Given the description of an element on the screen output the (x, y) to click on. 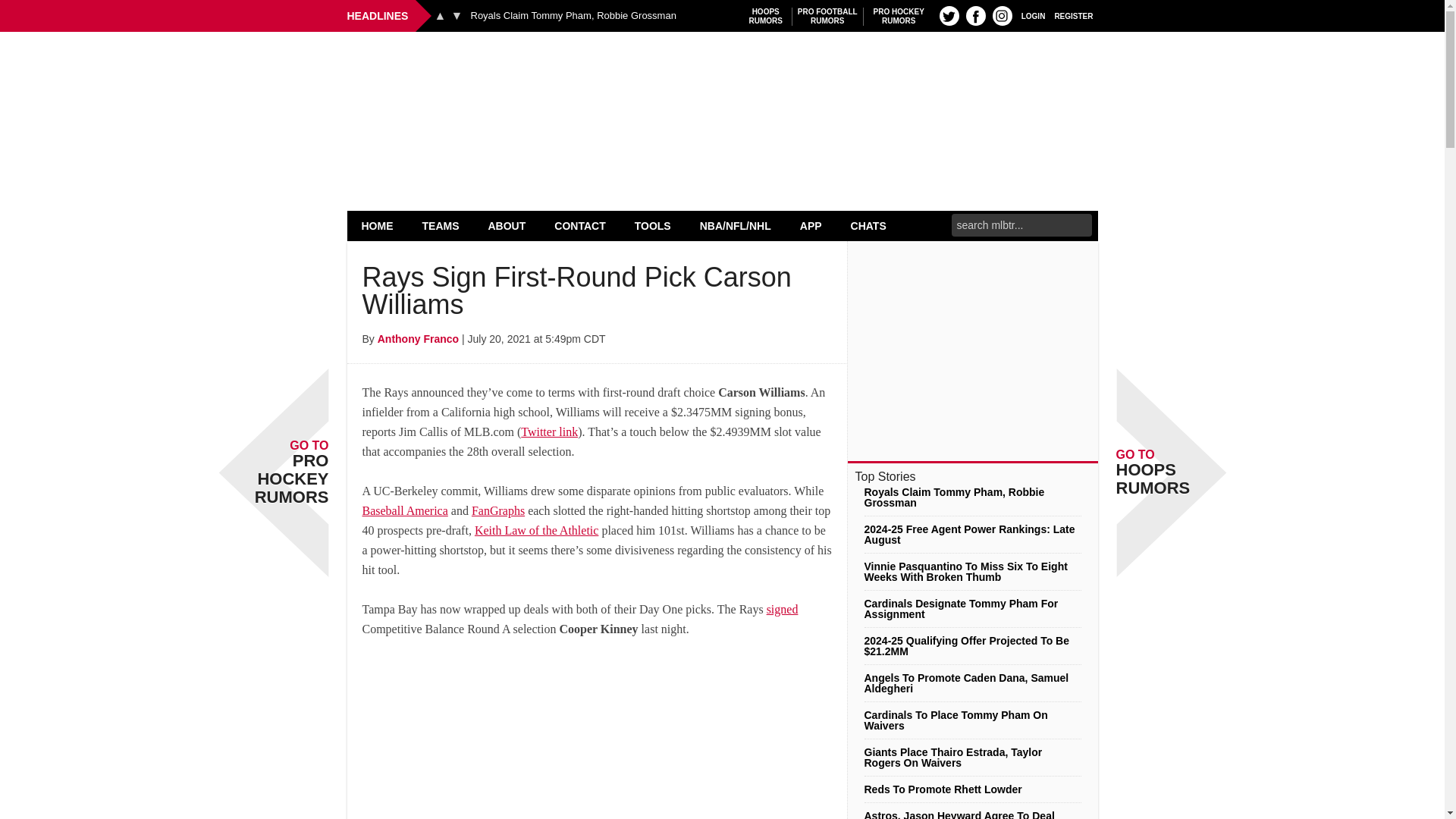
Instagram profile (1001, 15)
HOME (377, 225)
Royals Claim Tommy Pham, Robbie Grossman (827, 16)
FB profile (572, 15)
REGISTER (765, 16)
Next (975, 15)
Twitter profile (1073, 15)
TEAMS (456, 15)
